Given the description of an element on the screen output the (x, y) to click on. 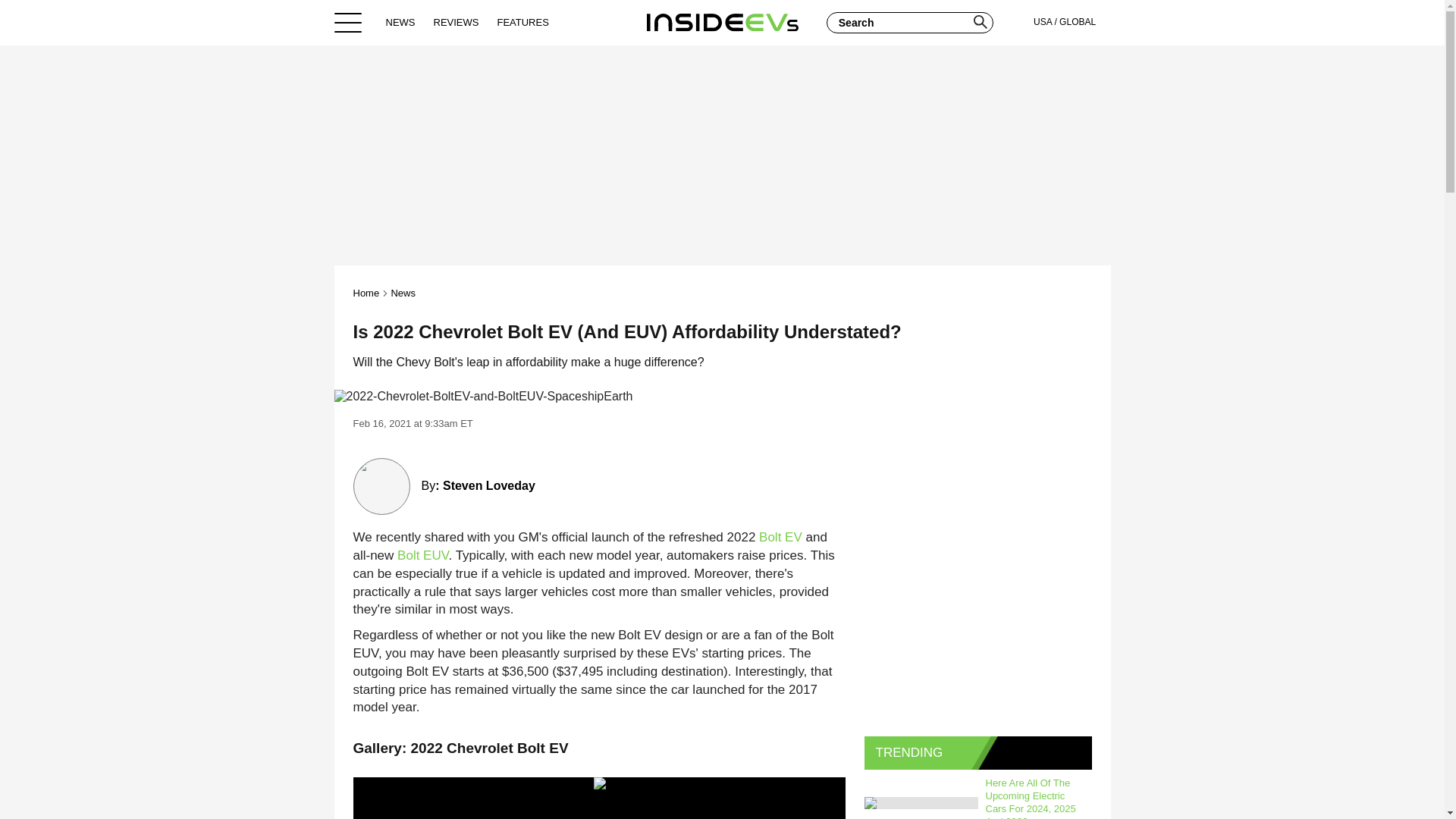
Bolt EV (780, 536)
Home (721, 22)
FEATURES (522, 22)
News (402, 292)
NEWS (399, 22)
Steven Loveday (488, 485)
Bolt EUV (422, 554)
REVIEWS (456, 22)
Home (366, 293)
